Given the description of an element on the screen output the (x, y) to click on. 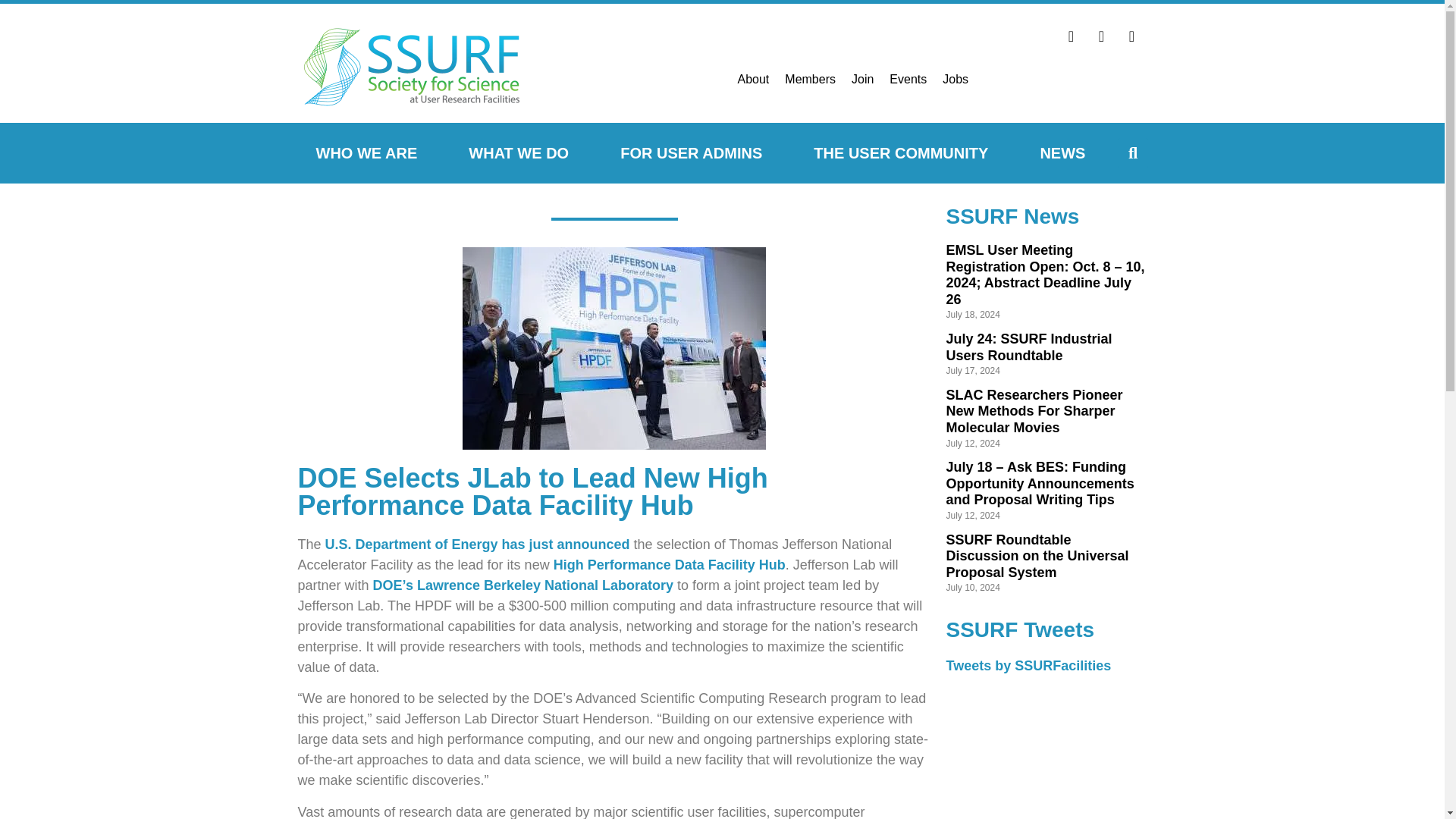
Events (908, 79)
Jobs (954, 79)
Join (862, 79)
Members (810, 79)
About (752, 79)
